Given the description of an element on the screen output the (x, y) to click on. 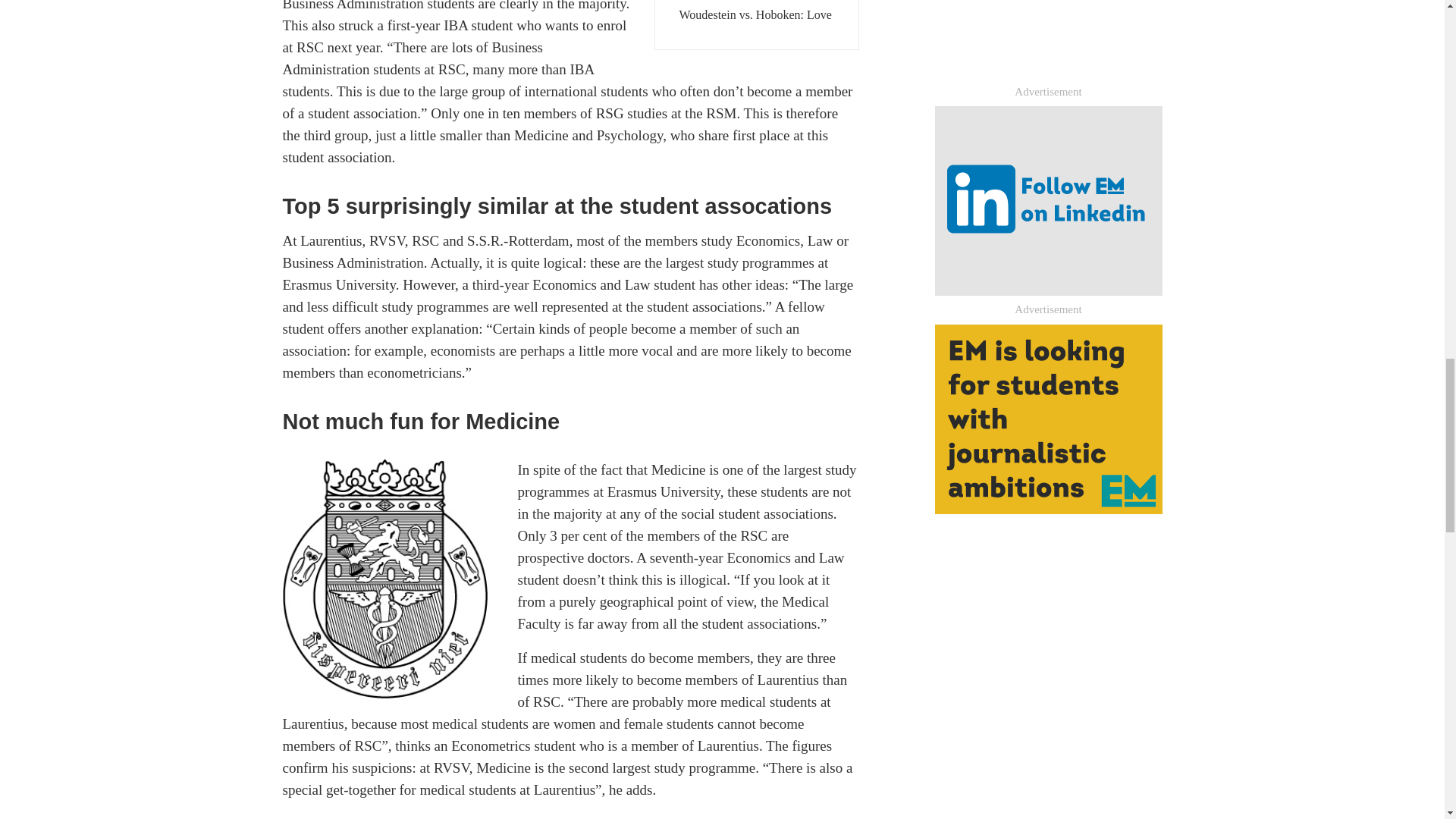
Woudestein vs. Hoboken: Love (756, 14)
